Given the description of an element on the screen output the (x, y) to click on. 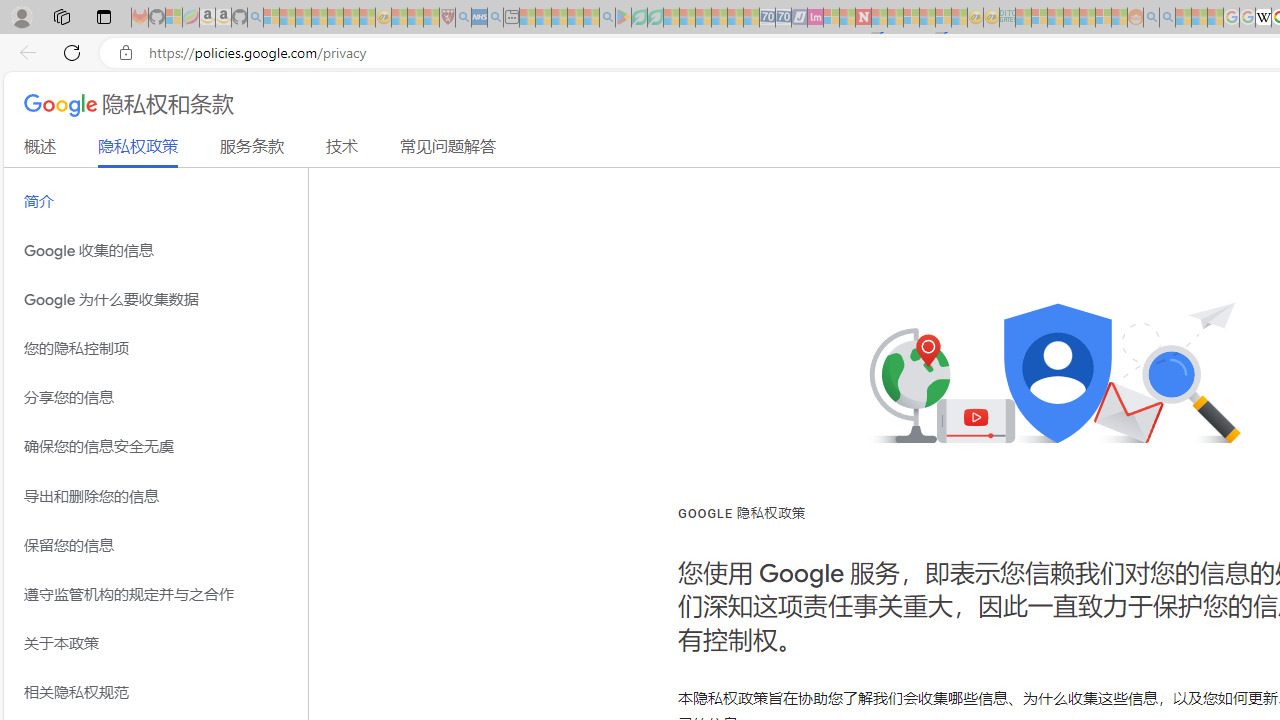
Target page - Wikipedia (1263, 17)
